Given the description of an element on the screen output the (x, y) to click on. 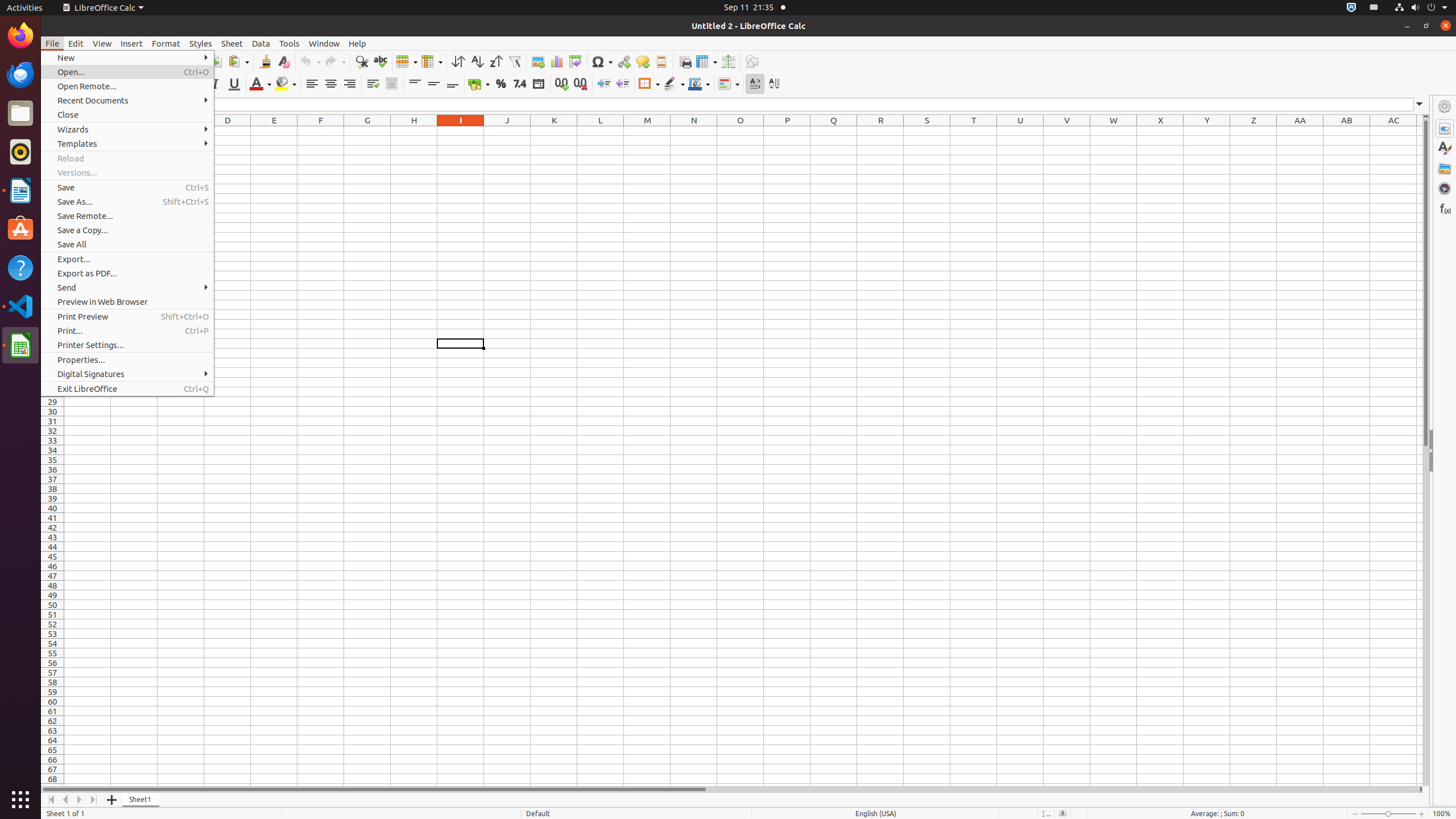
Borders (Shift to overwrite) Element type: push-button (648, 83)
Wizards Element type: menu (126, 129)
Print... Element type: menu-item (126, 330)
Delete Decimal Place Element type: push-button (580, 83)
Currency Element type: push-button (478, 83)
